Given the description of an element on the screen output the (x, y) to click on. 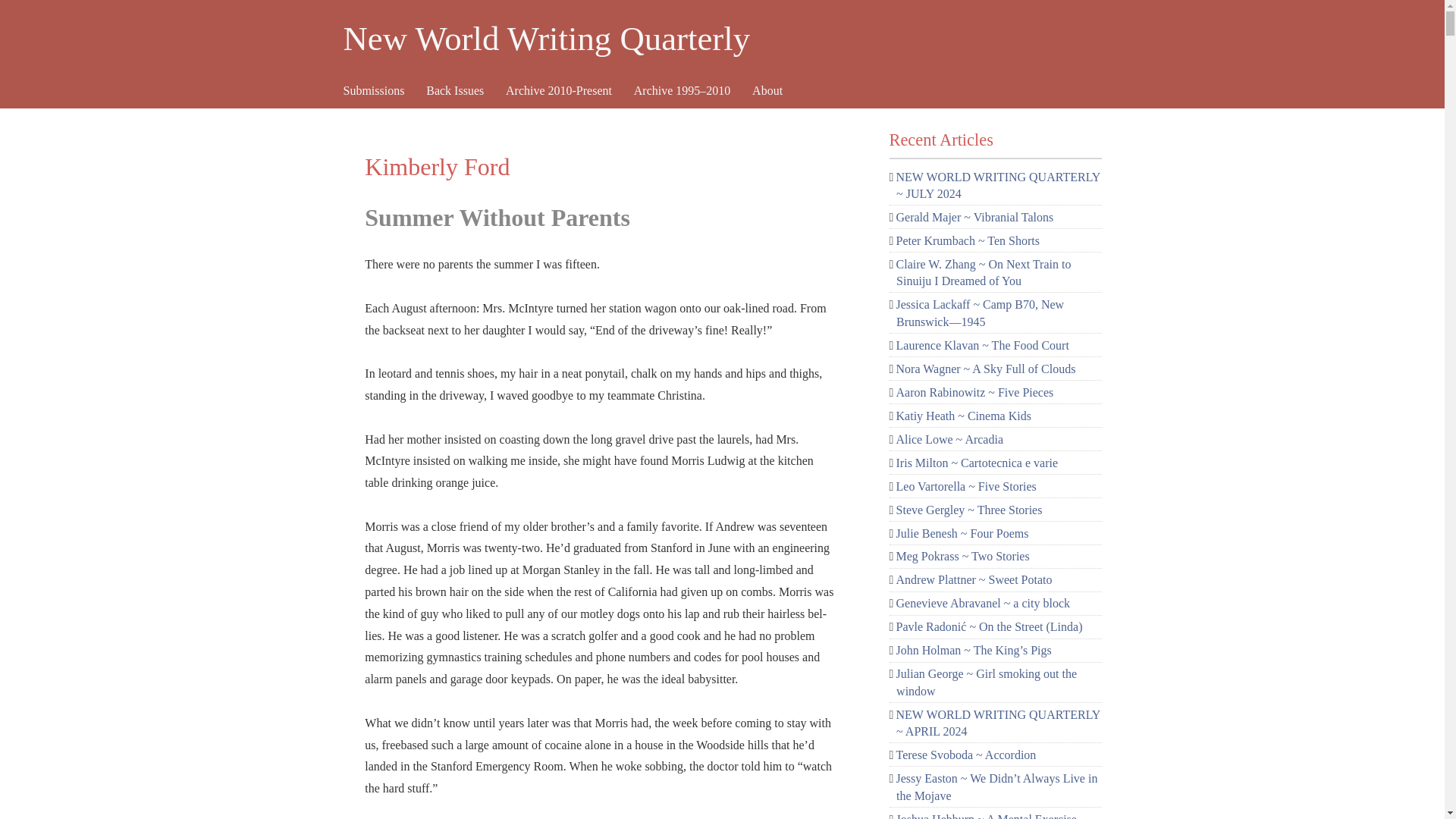
Back Issues (465, 95)
New World Writing Quarterly (704, 39)
About (778, 95)
Submissions (384, 95)
New World Writing Quarterly (704, 39)
Archive 2010-Present (569, 95)
